Given the description of an element on the screen output the (x, y) to click on. 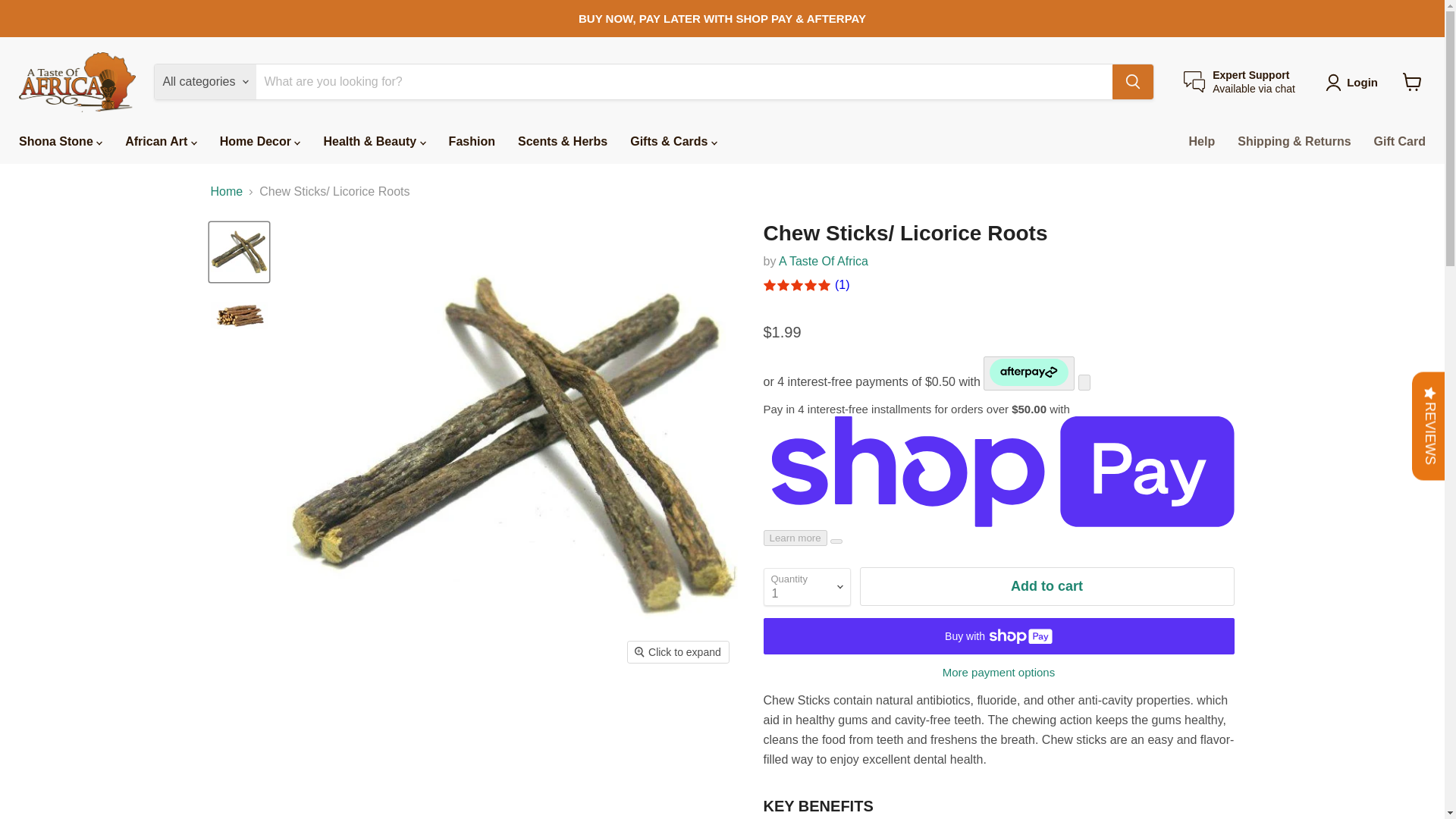
View cart (1411, 81)
Login (1362, 81)
A Taste Of Africa  (1239, 81)
